Given the description of an element on the screen output the (x, y) to click on. 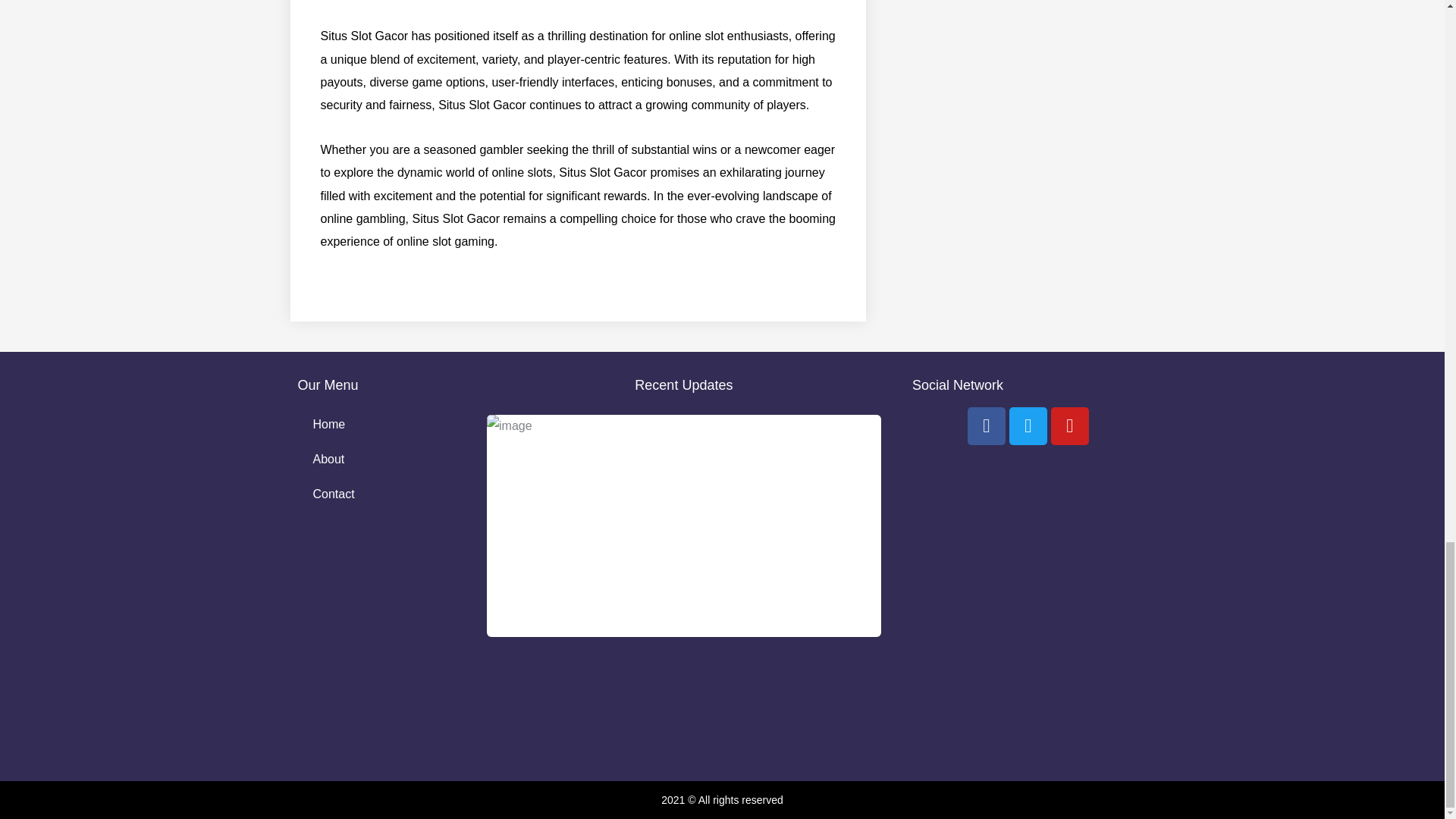
About (375, 459)
Home (375, 424)
image (683, 525)
